Given the description of an element on the screen output the (x, y) to click on. 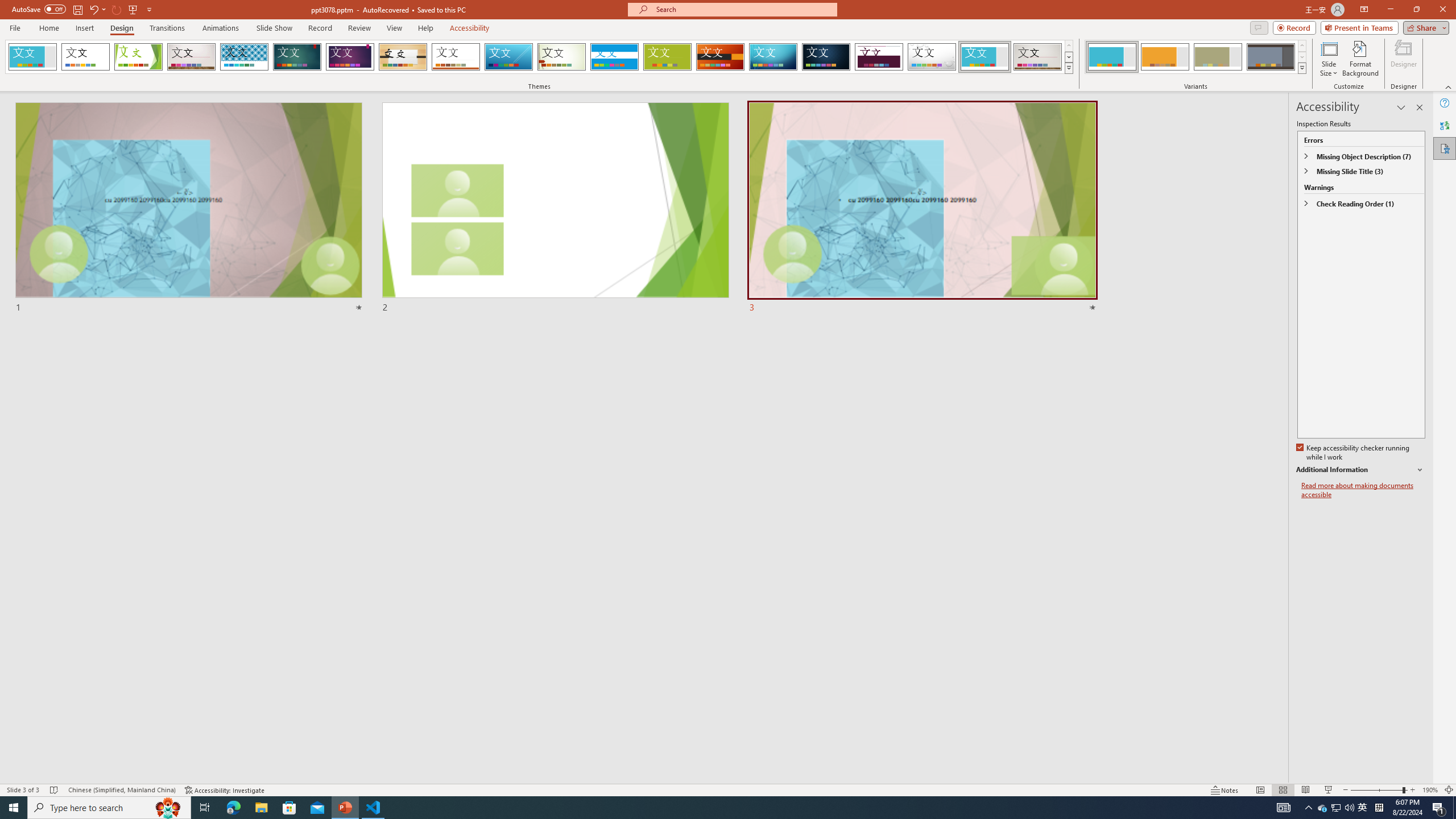
Variants (1301, 67)
Circuit (772, 56)
Retrospect (455, 56)
Slide Size (1328, 58)
